Given the description of an element on the screen output the (x, y) to click on. 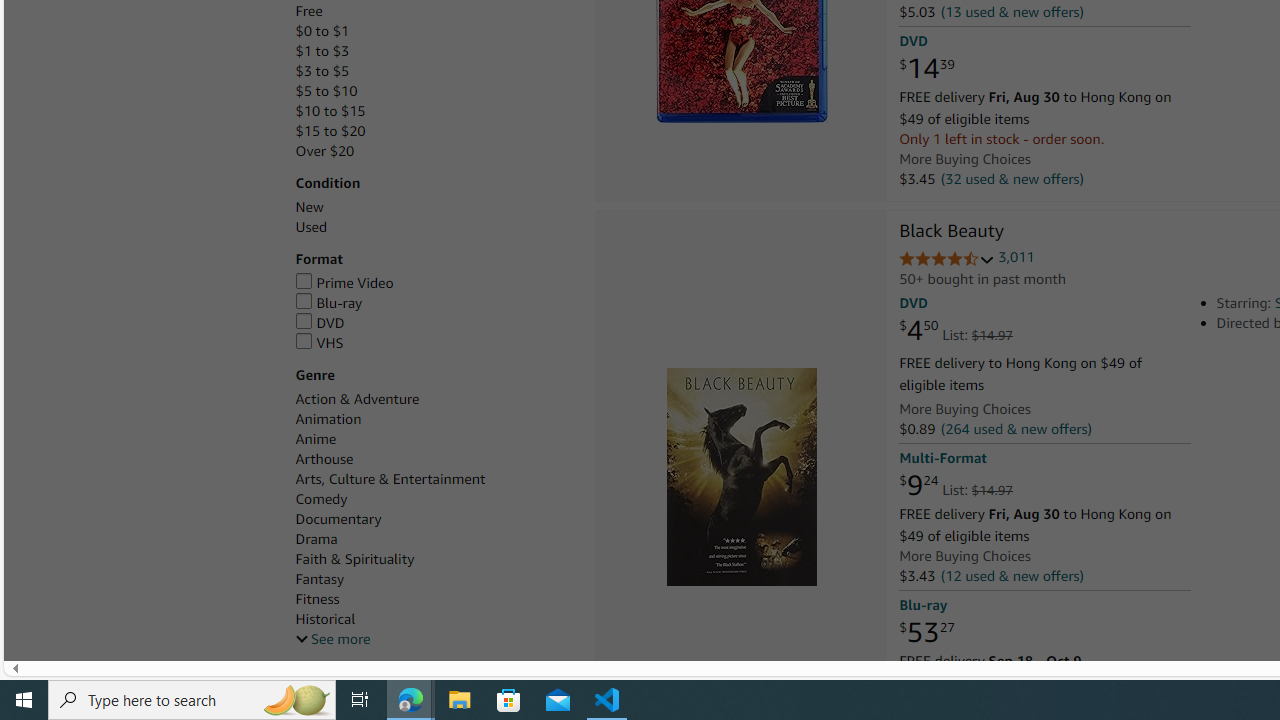
$53.27 (926, 632)
Prime Video (434, 283)
Arts, Culture & Entertainment (390, 479)
Fitness (434, 599)
$4.50 List: $14.97 (955, 331)
Arthouse (434, 459)
$1 to $3 (321, 51)
3,011 (1016, 257)
Fantasy (434, 579)
Historical (434, 619)
Over $20 (324, 151)
Historical (324, 619)
Multi-Format (942, 458)
$14.39 (926, 69)
Documentary (337, 519)
